Given the description of an element on the screen output the (x, y) to click on. 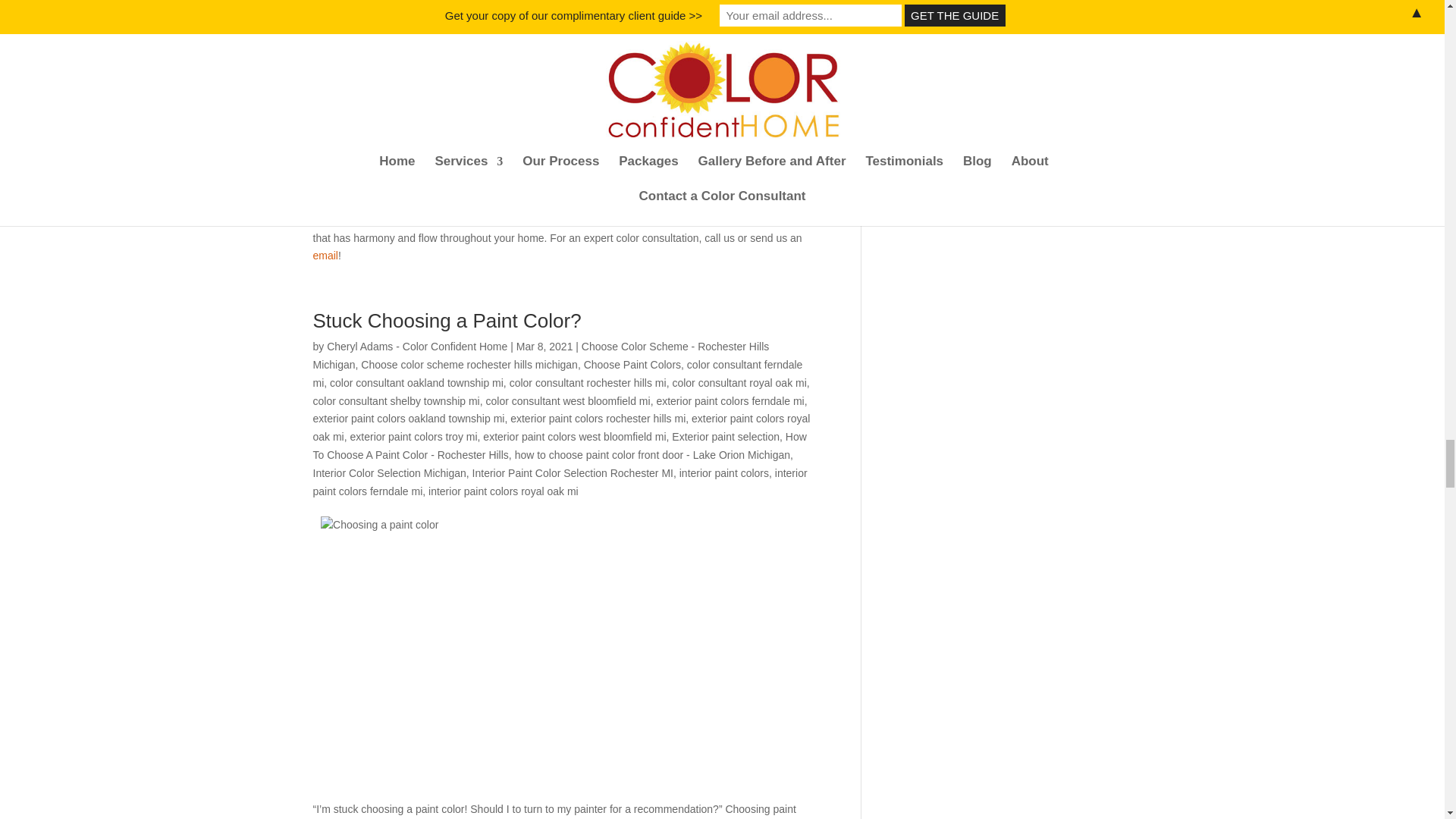
Choosing a paint color (564, 653)
Posts by Cheryl Adams - Color Confident Home (416, 346)
